Given the description of an element on the screen output the (x, y) to click on. 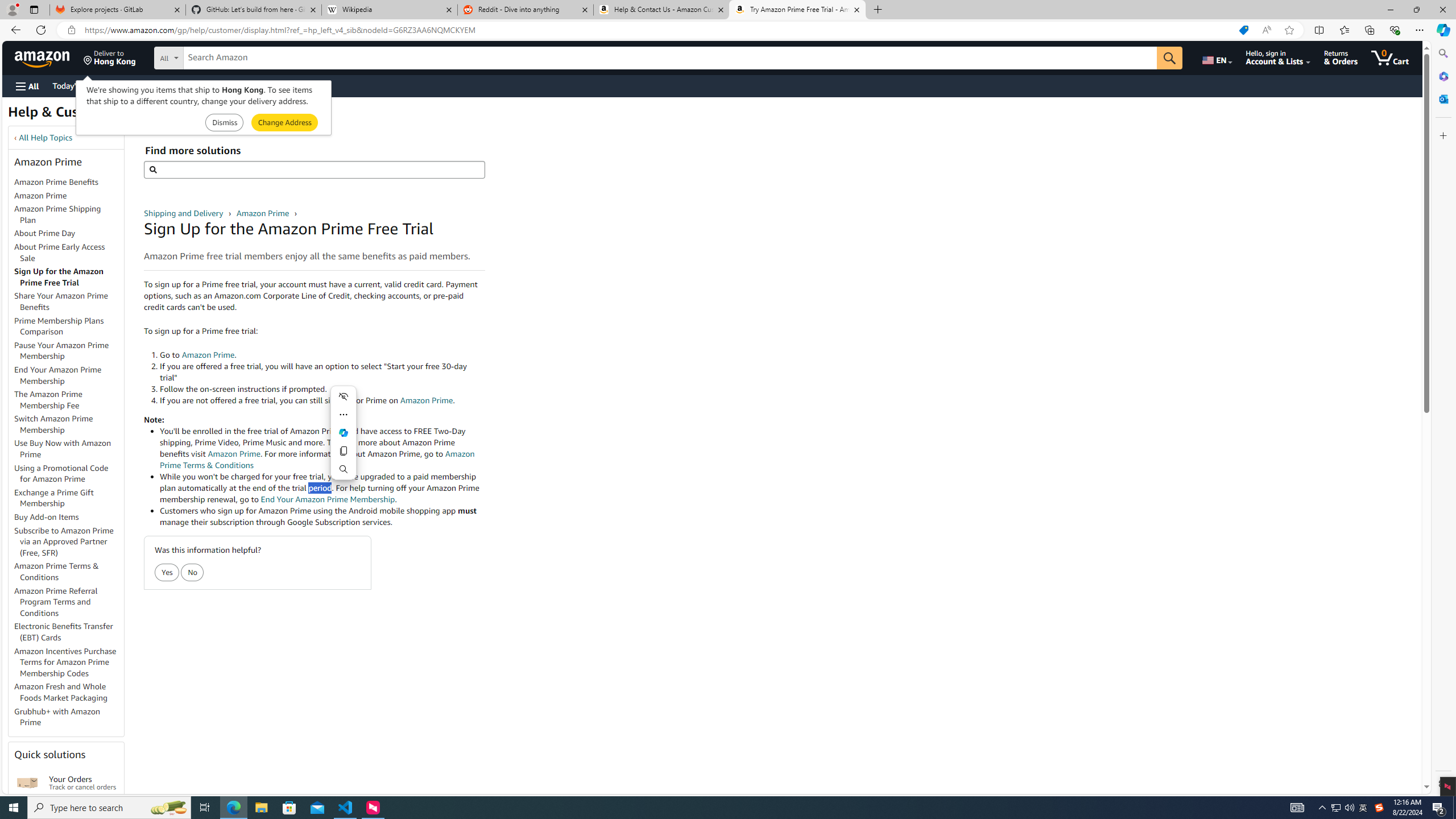
About Prime Early Access Sale (68, 252)
Using a Promotional Code for Amazon Prime (68, 473)
Choose a language for shopping. (1216, 57)
Follow the on-screen instructions if prompted. (322, 389)
No (192, 572)
Switch Amazon Prime Membership (68, 424)
All Help Topics (45, 137)
